Given the description of an element on the screen output the (x, y) to click on. 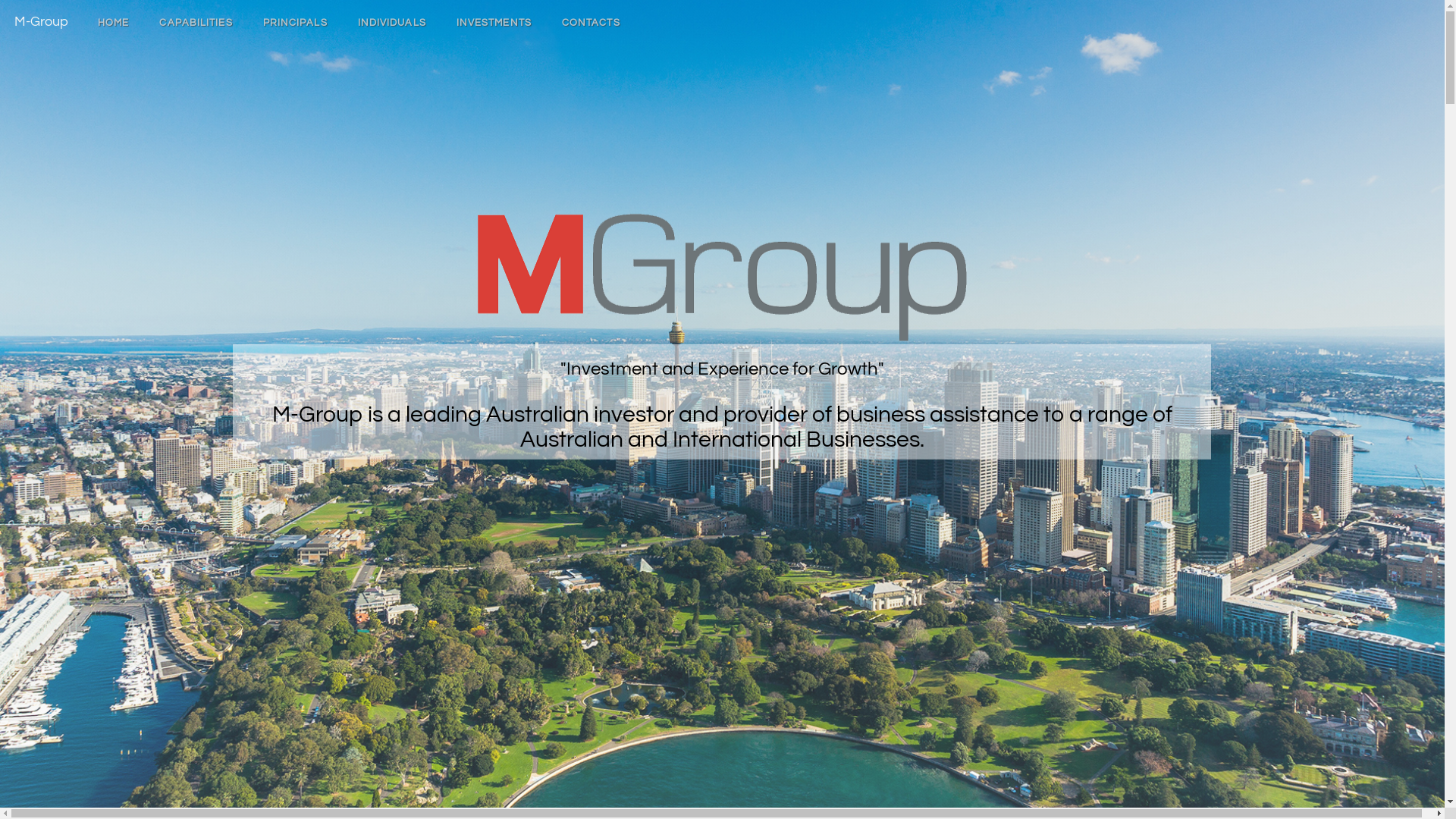
HOME Element type: text (113, 22)
CONTACTS Element type: text (590, 22)
M-Group Element type: text (41, 18)
INDIVIDUALS Element type: text (391, 22)
INVESTMENTS Element type: text (493, 22)
PRINCIPALS Element type: text (294, 22)
CAPABILITIES Element type: text (195, 22)
